Given the description of an element on the screen output the (x, y) to click on. 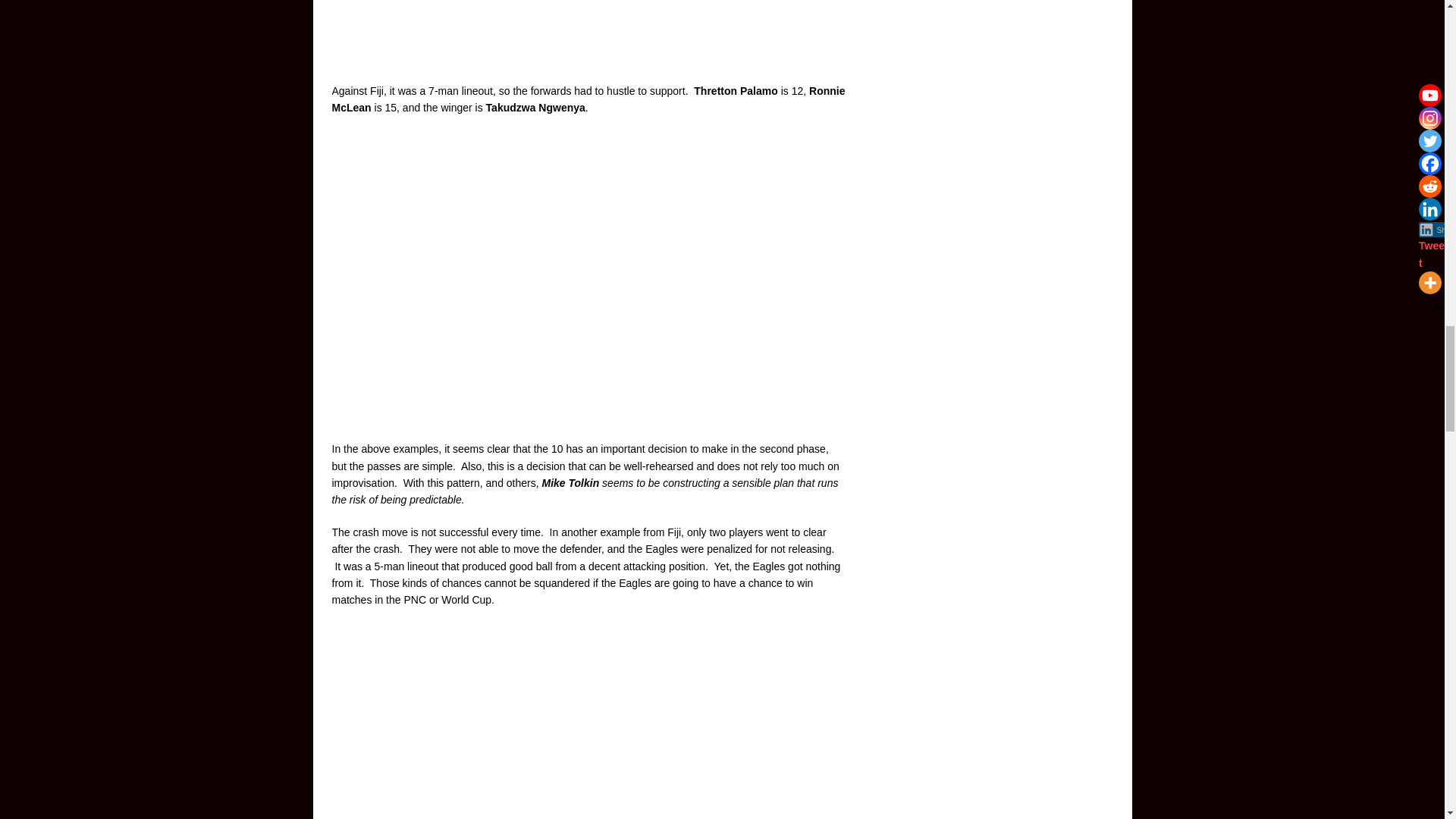
Great move from a lineout leads to a try (588, 31)
A Palamo crash leads to a penalty conceded. (588, 721)
